Given the description of an element on the screen output the (x, y) to click on. 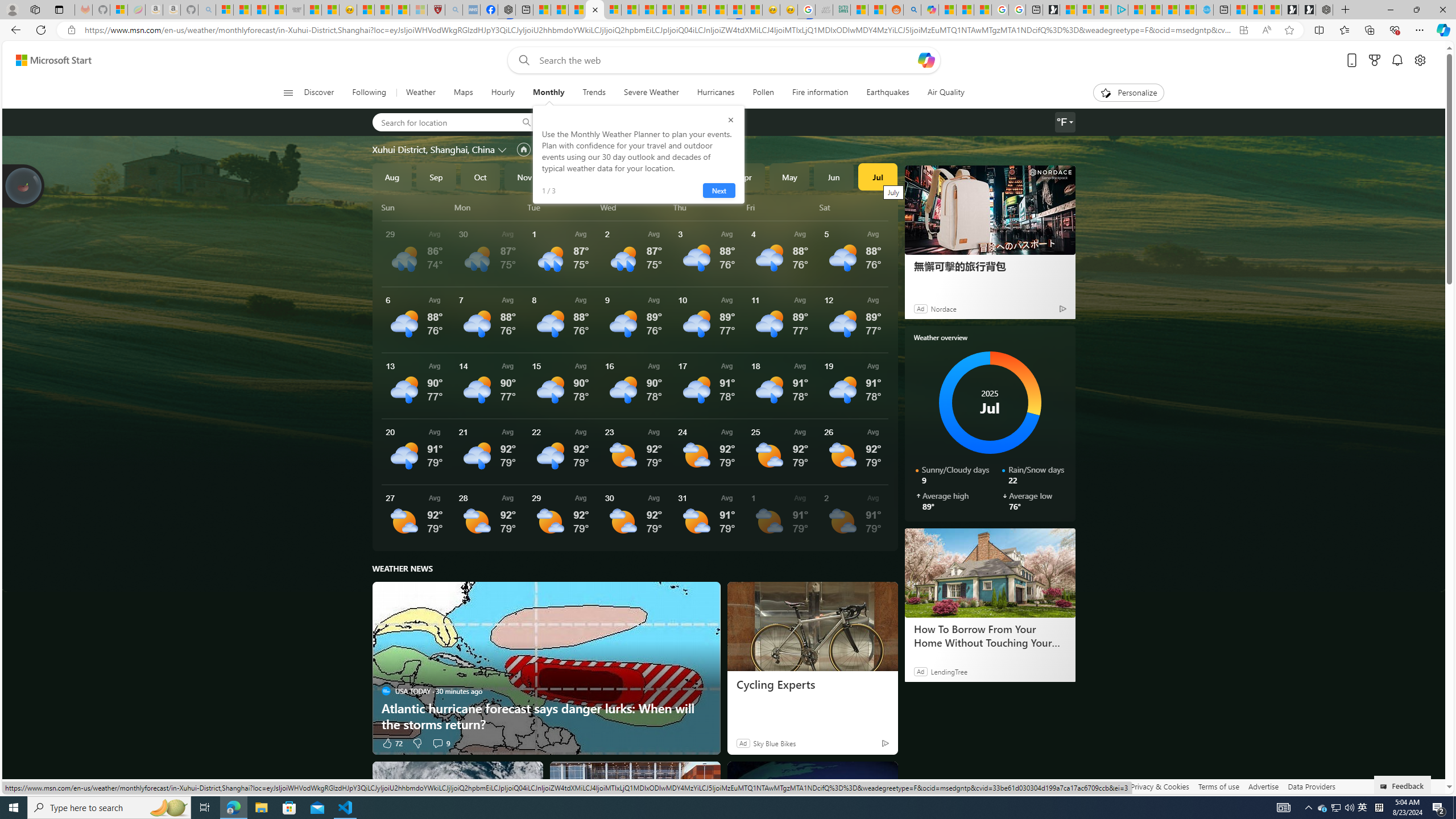
list of asthma inhalers uk - Search - Sleeping (453, 9)
Nov (523, 176)
Apr (745, 176)
DITOGAMES AG Imprint (842, 9)
Weather settings (1064, 122)
Open Copilot (926, 59)
Stocks - MSN (277, 9)
